Given the description of an element on the screen output the (x, y) to click on. 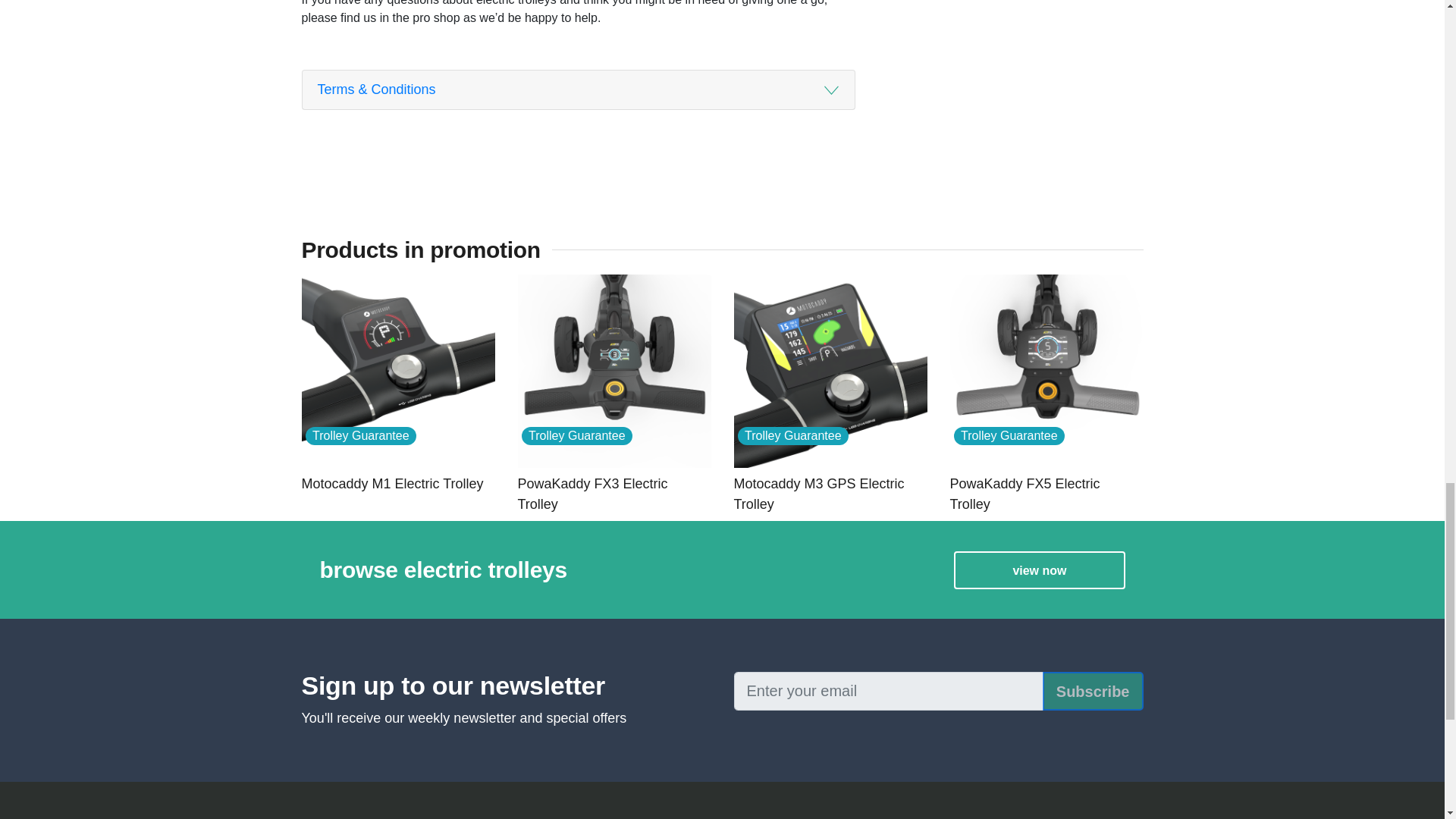
view now (1038, 569)
Subscribe (1092, 690)
PowaKaddy FX3 Electric Trolley (613, 494)
PowaKaddy FX5 Electric Trolley (1045, 494)
Motocaddy M3 GPS Electric Trolley (830, 494)
Motocaddy M1 Electric Trolley (398, 484)
